Given the description of an element on the screen output the (x, y) to click on. 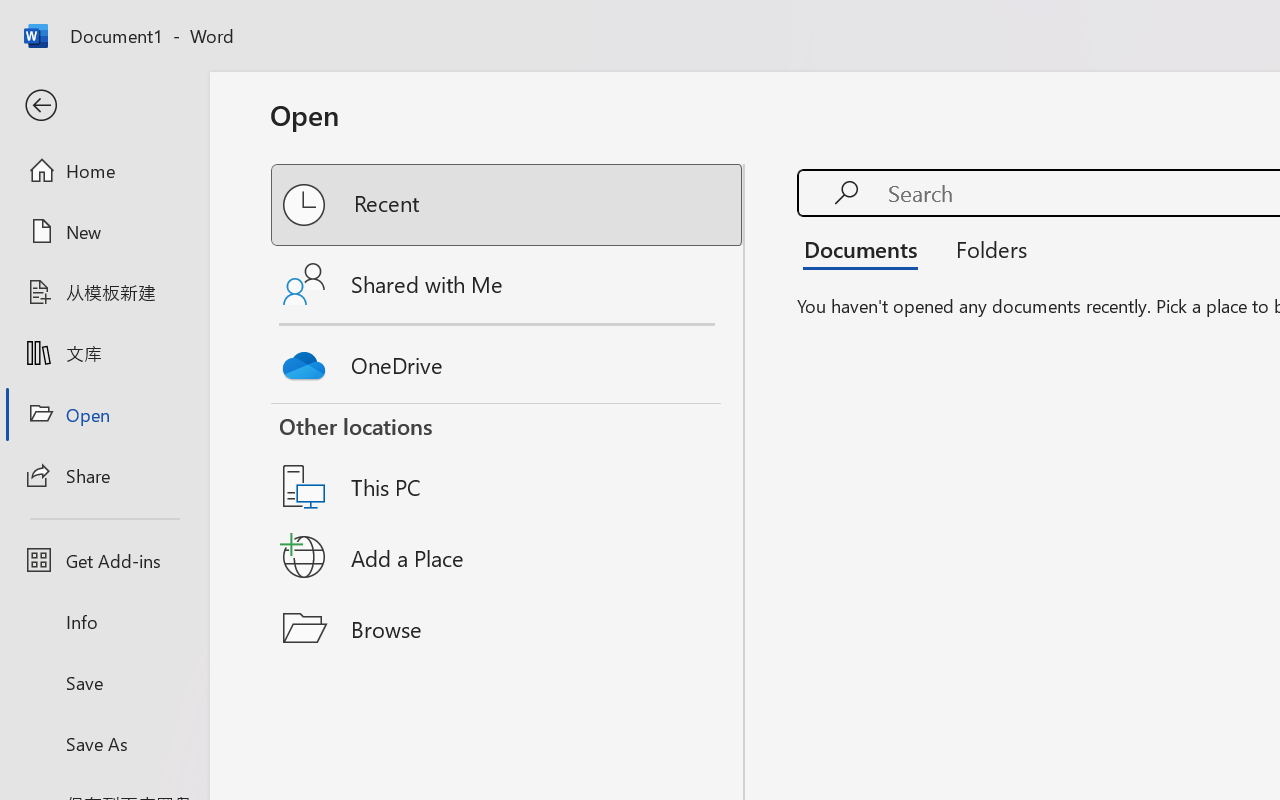
Info (104, 621)
Browse (507, 627)
Folders (984, 248)
New (104, 231)
